Given the description of an element on the screen output the (x, y) to click on. 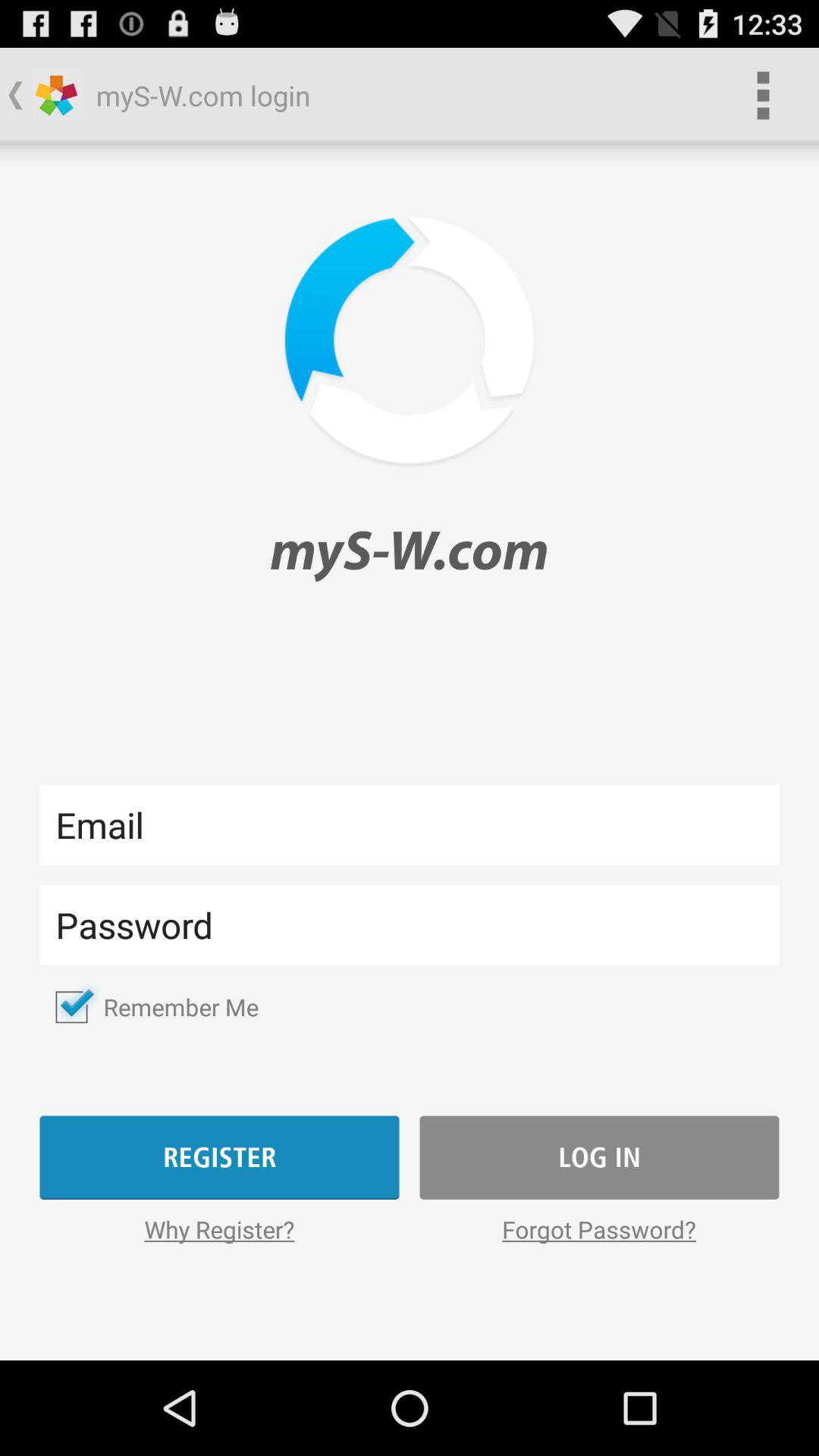
enter the password (409, 924)
